Given the description of an element on the screen output the (x, y) to click on. 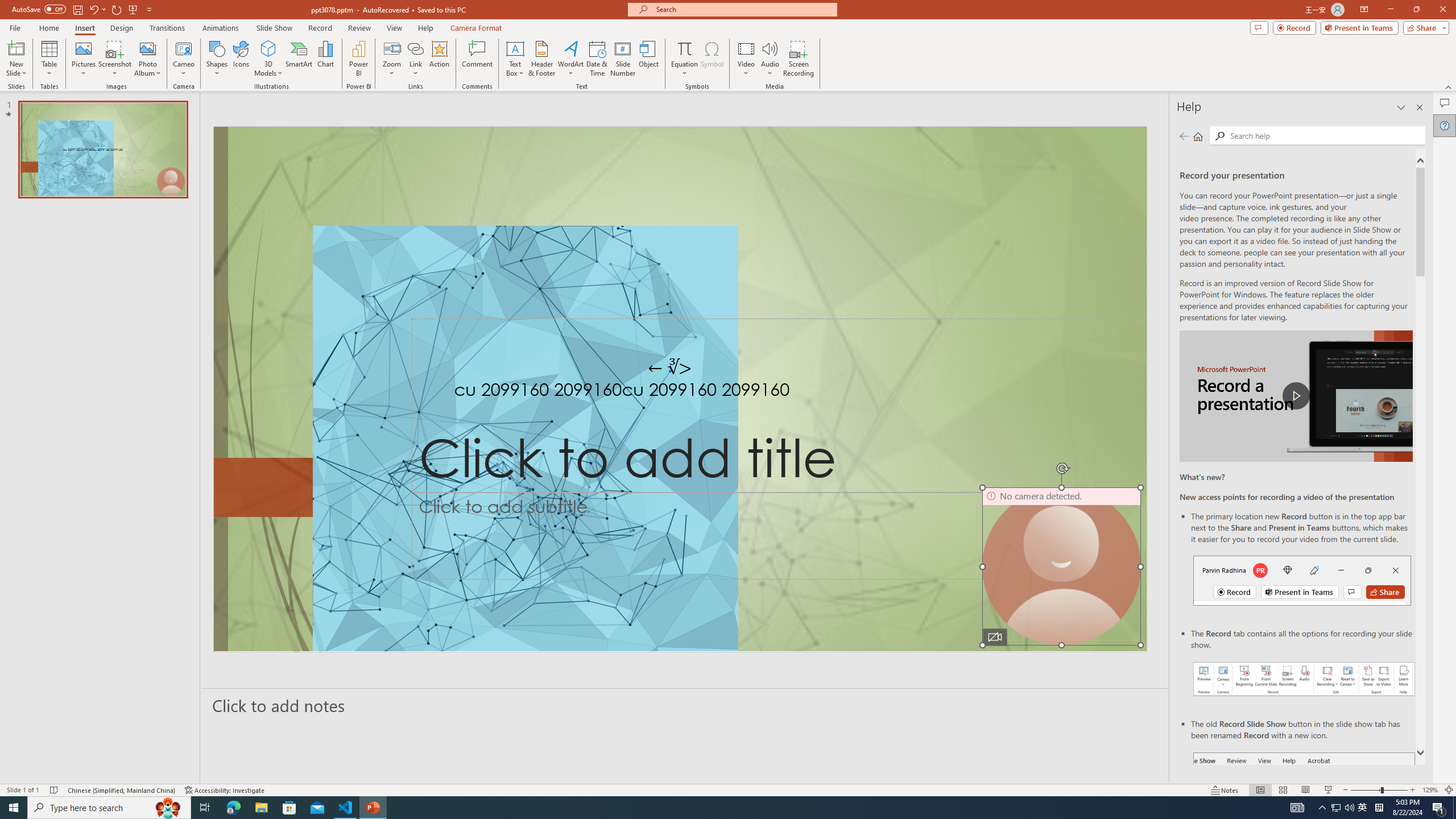
An abstract genetic concept (680, 388)
Table (49, 58)
3D Models (268, 58)
Screen Recording... (798, 58)
Record button in top bar (1301, 580)
Camera 9, No camera detected. (1061, 566)
